Given the description of an element on the screen output the (x, y) to click on. 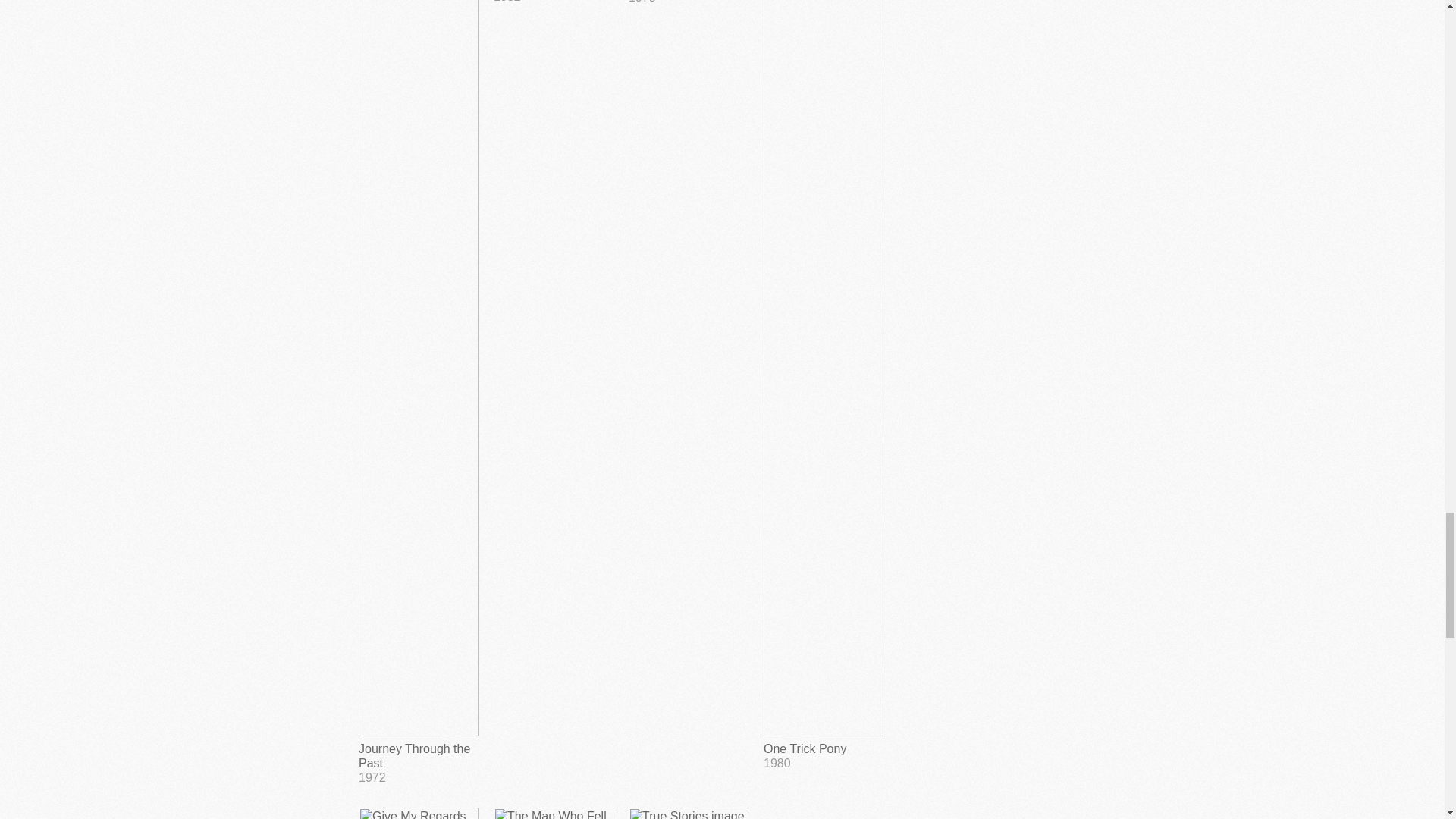
True Stories (418, 813)
The Man Who Fell to Earth (688, 813)
Give My Regards to Broad Street (688, 2)
Human Highway (552, 2)
Renaldo and Clara (552, 813)
